Given the description of an element on the screen output the (x, y) to click on. 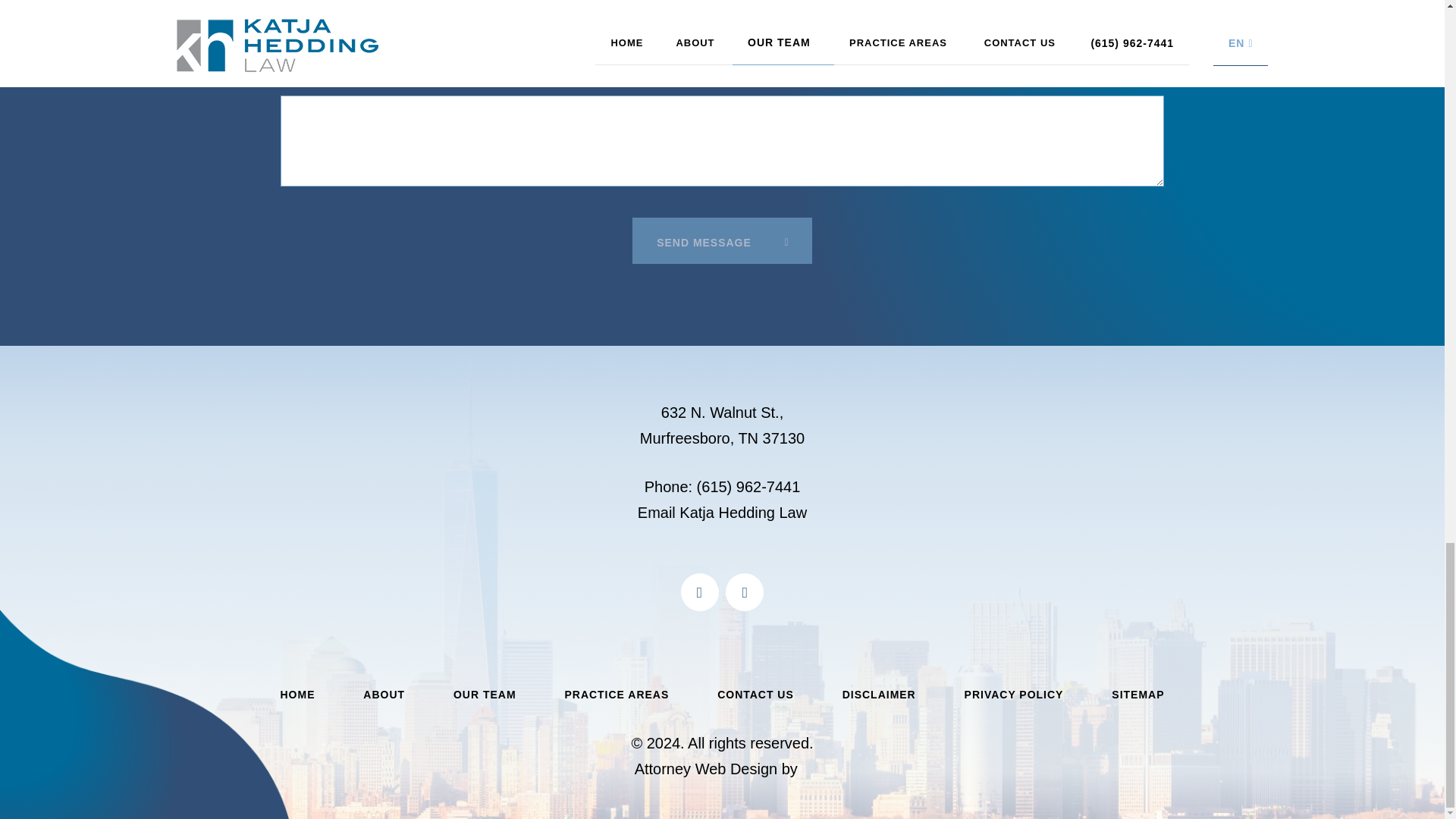
CONTACT US (755, 694)
ABOUT (383, 694)
PRIVACY POLICY (1013, 694)
DISCLAIMER (879, 694)
SITEMAP (1137, 694)
OUR TEAM (484, 694)
Email Katja Hedding Law (721, 512)
SEND MESSAGE (721, 240)
PRACTICE AREAS (616, 694)
Attorney Web Design by (715, 768)
HOME (298, 694)
